Given the description of an element on the screen output the (x, y) to click on. 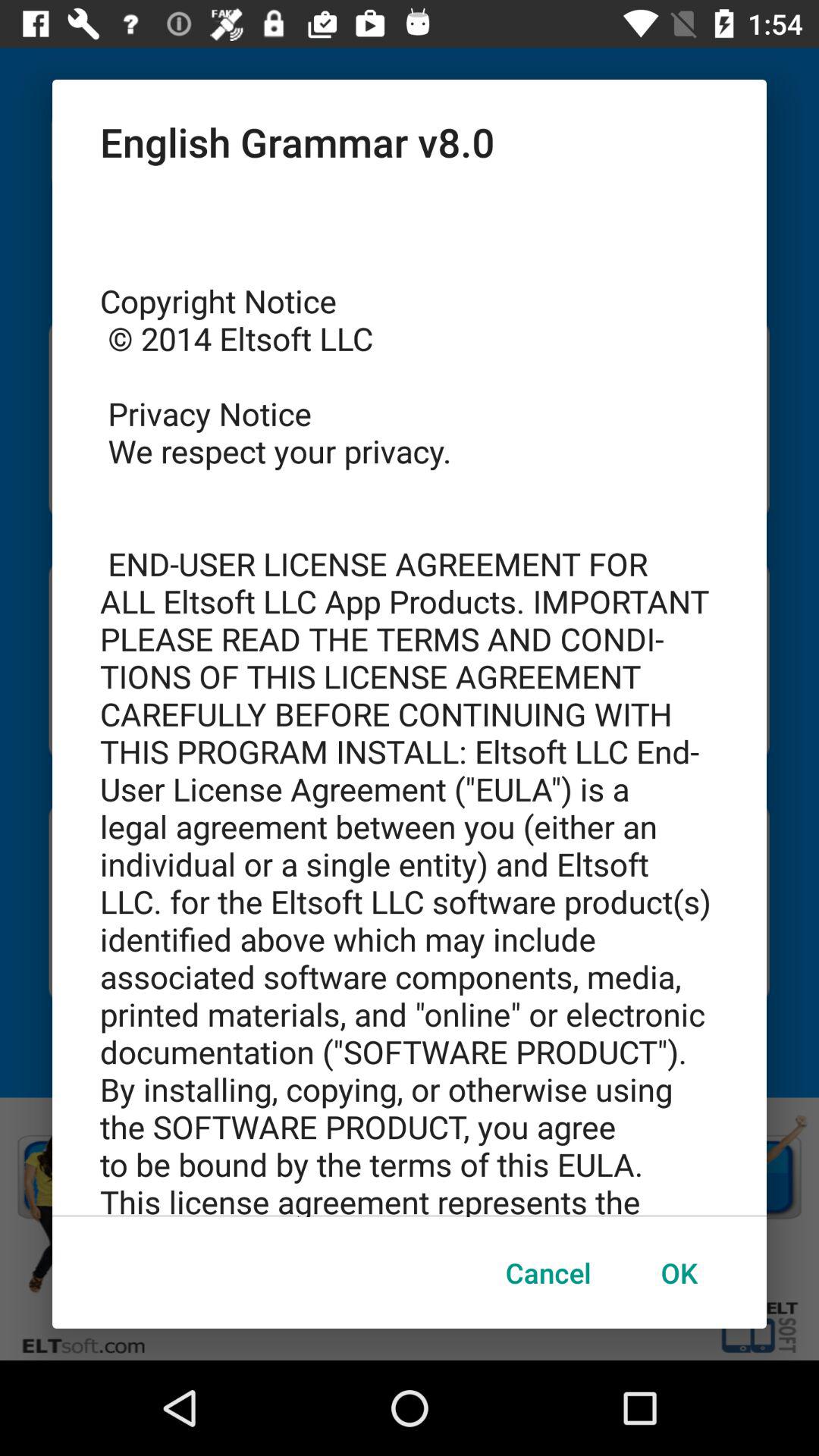
launch icon to the right of cancel (678, 1272)
